Given the description of an element on the screen output the (x, y) to click on. 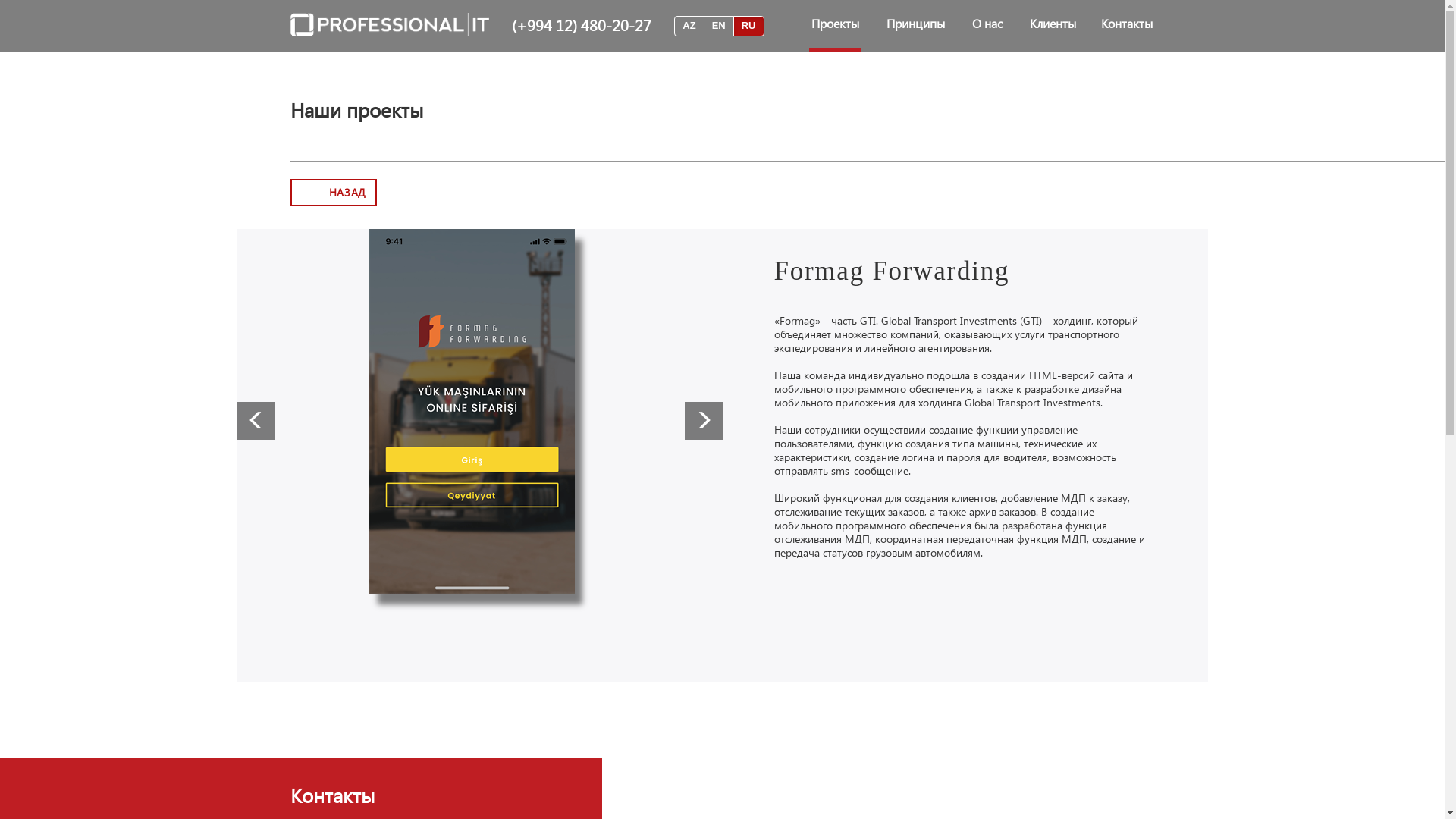
RU Element type: text (748, 25)
AZ Element type: text (688, 25)
EN Element type: text (718, 25)
